Given the description of an element on the screen output the (x, y) to click on. 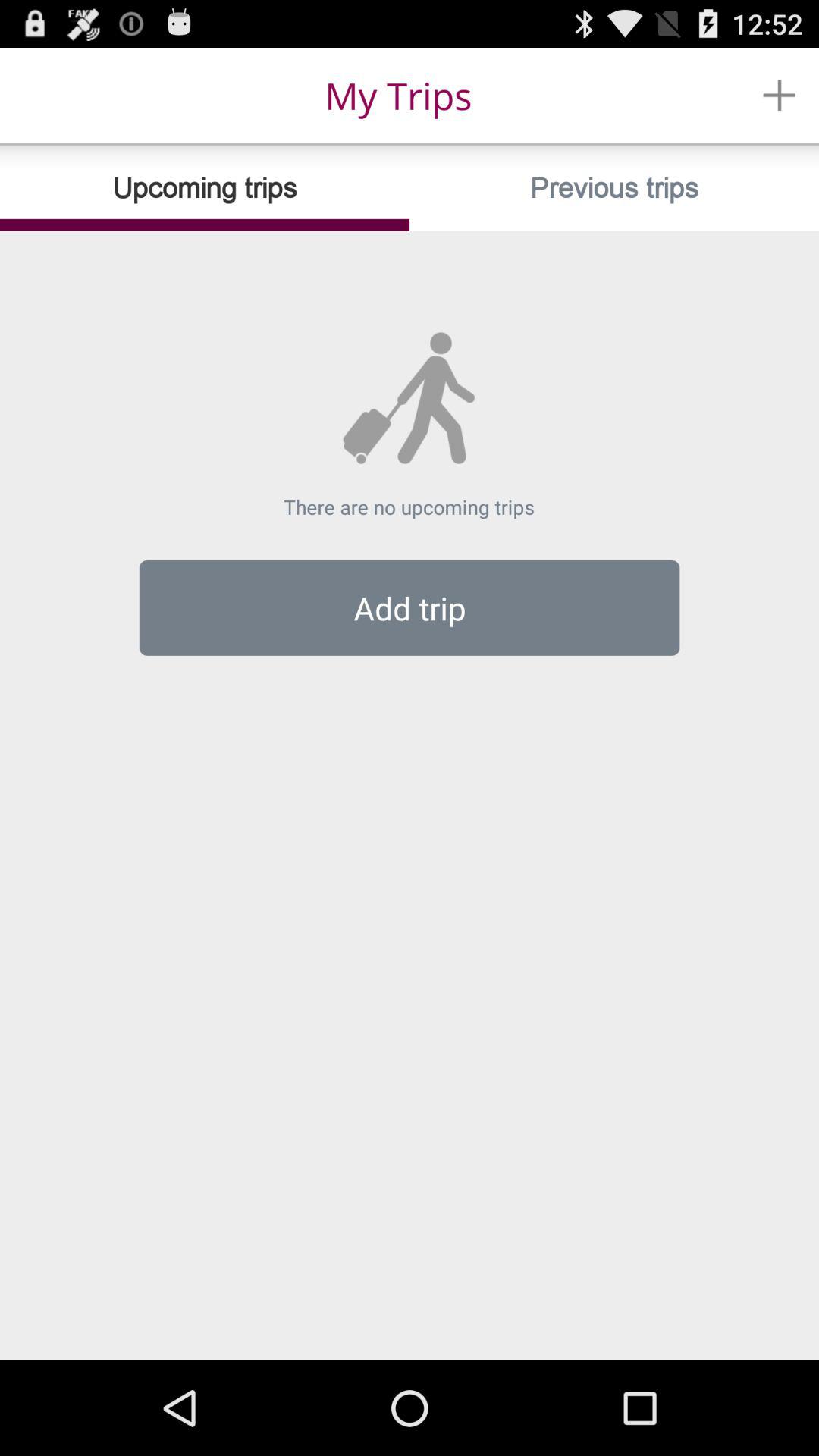
choose the item above the previous trips icon (779, 95)
